Given the description of an element on the screen output the (x, y) to click on. 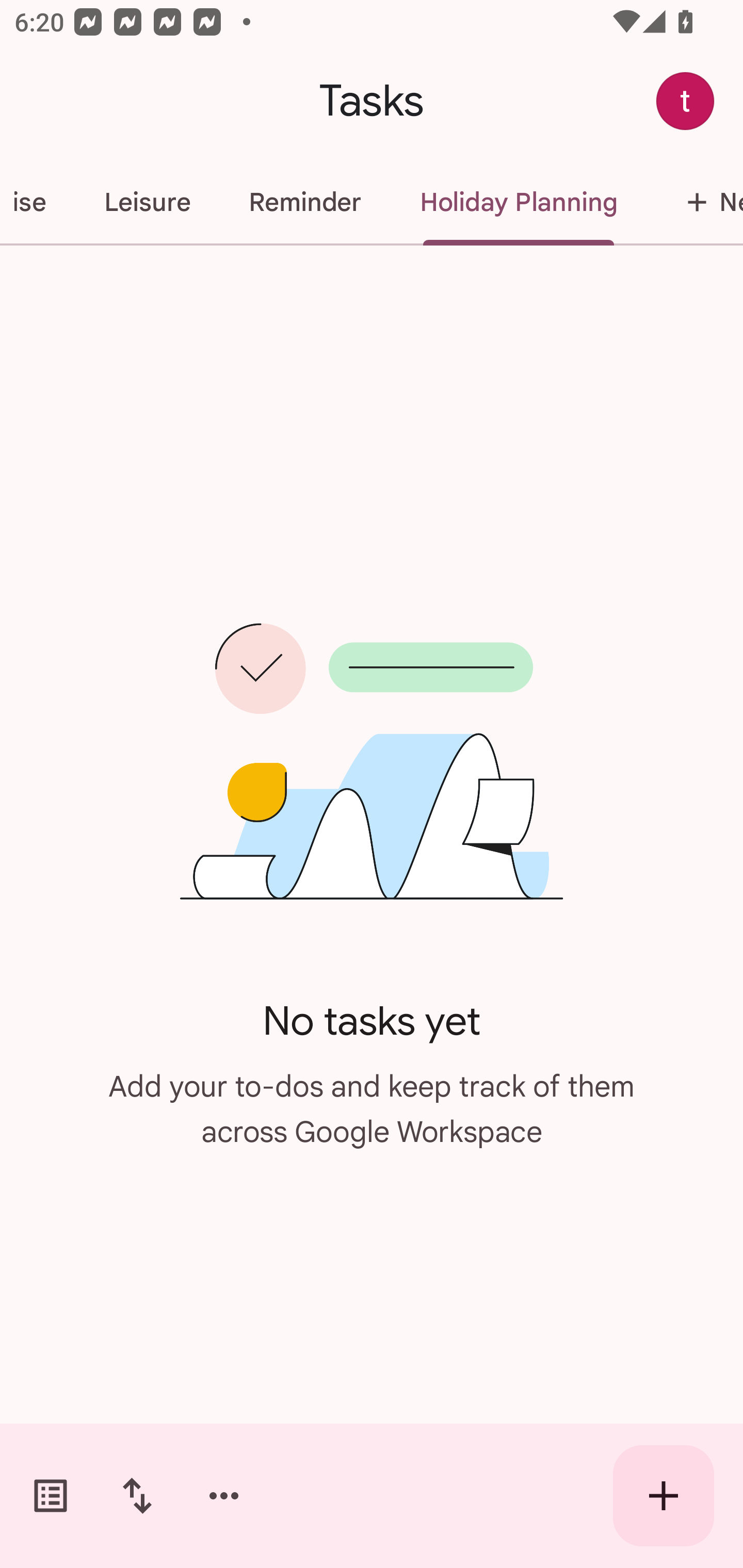
Leisure (147, 202)
Reminder (304, 202)
Switch task lists (50, 1495)
Create new task (663, 1495)
Change sort order (136, 1495)
More options (223, 1495)
